Given the description of an element on the screen output the (x, y) to click on. 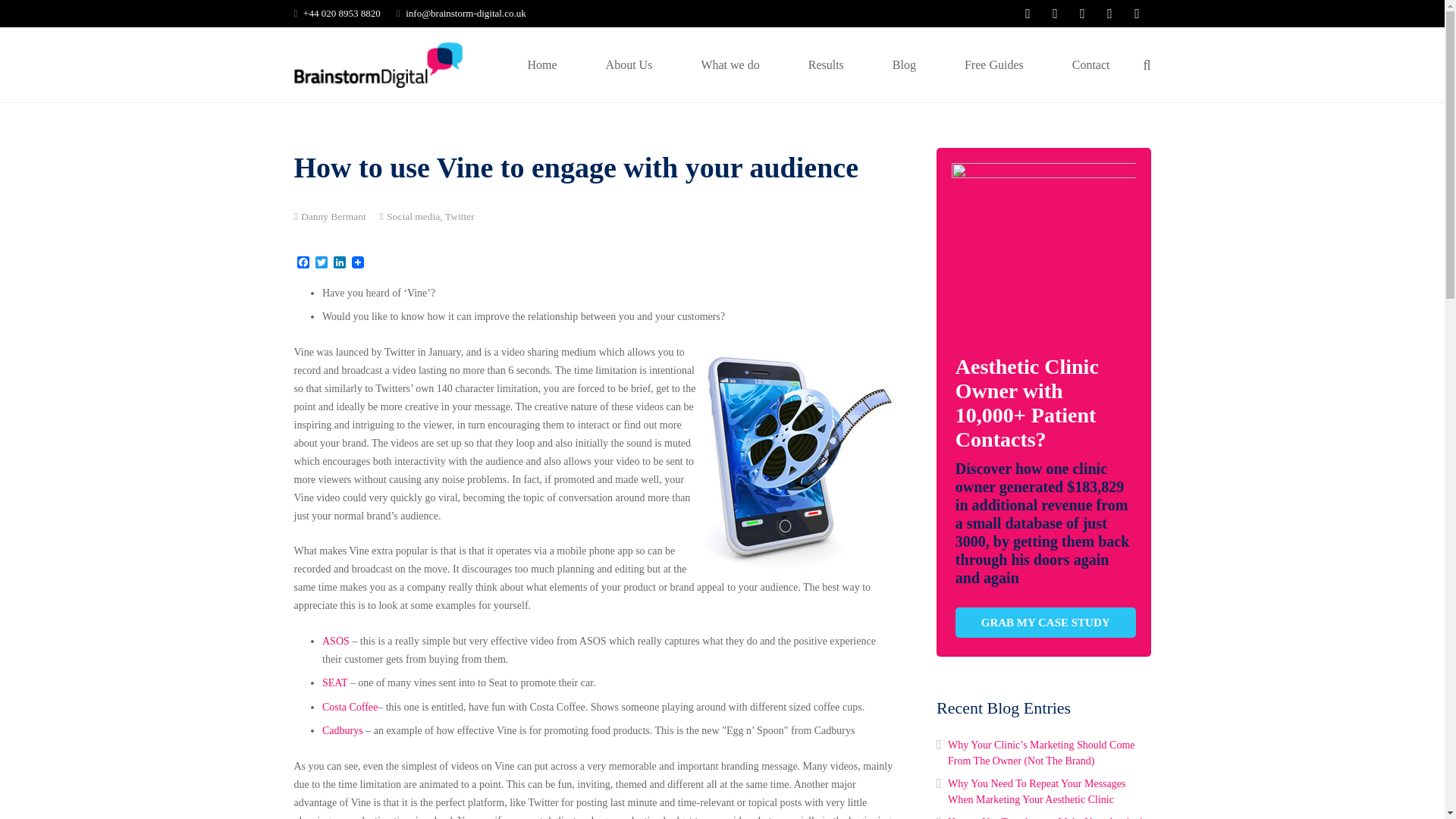
Blog (903, 64)
Results (825, 64)
What we do (730, 64)
Twitter (321, 263)
Danny Bermant (333, 215)
Facebook (303, 263)
Twitter (321, 263)
SEAT (334, 682)
Social media (413, 215)
Facebook (303, 263)
